Given the description of an element on the screen output the (x, y) to click on. 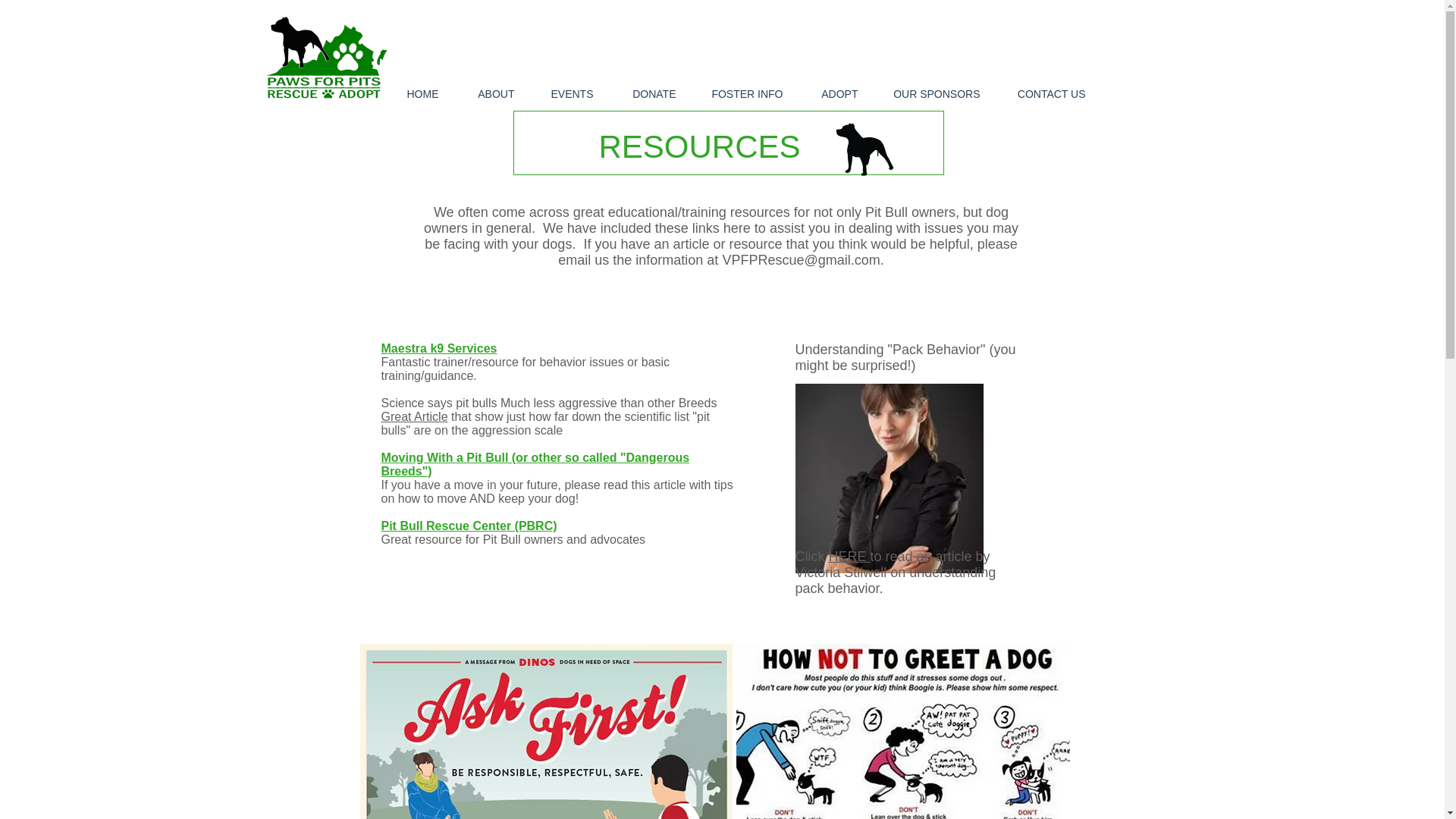
Great Article (413, 416)
HERE  (848, 556)
HOME (413, 94)
CONTACT US (1044, 94)
OUR SPONSORS (930, 94)
Maestra k9 Services (438, 348)
FOSTER INFO (740, 94)
EVENTS (565, 94)
DONATE (646, 94)
